Given the description of an element on the screen output the (x, y) to click on. 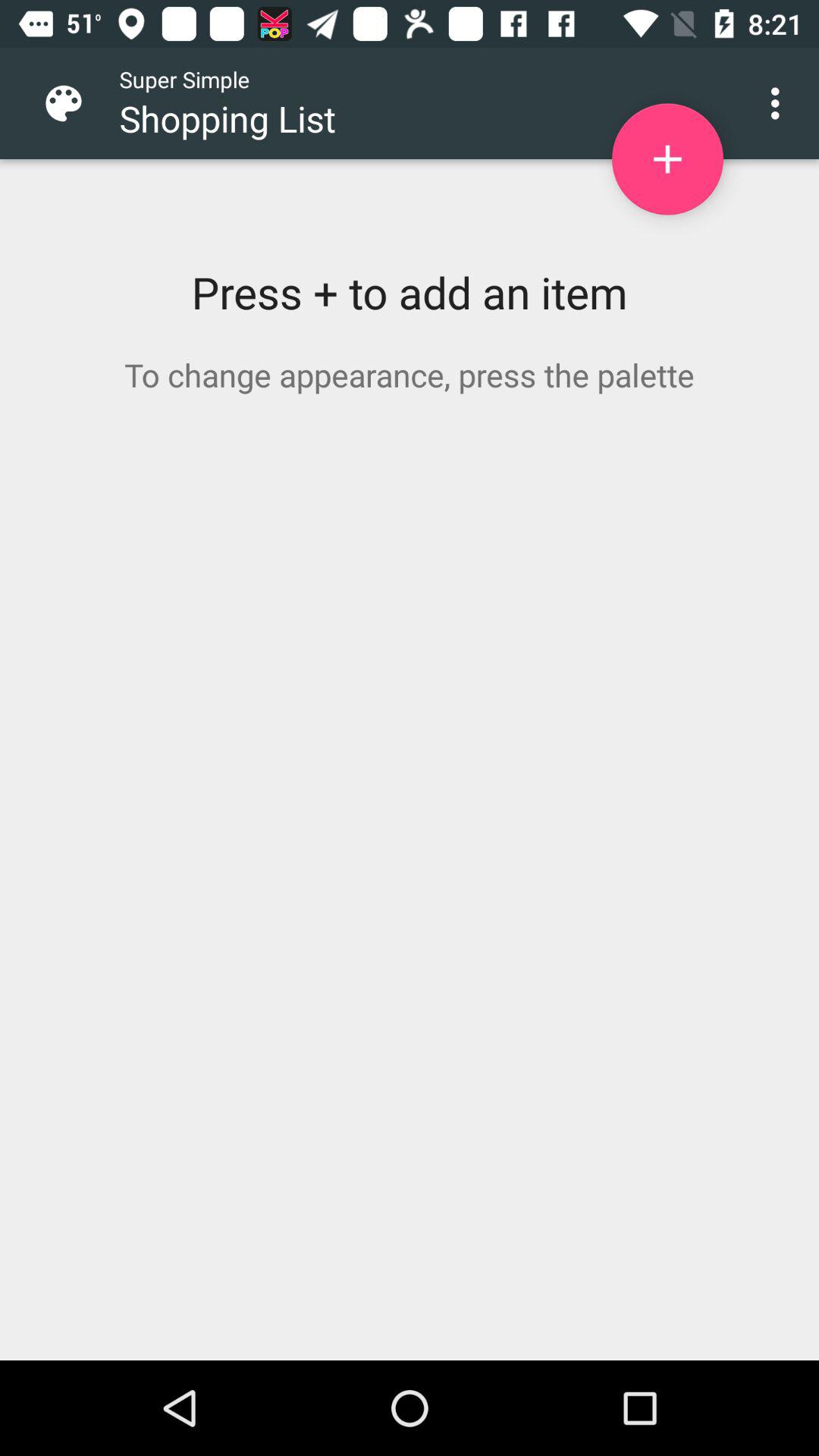
open icon above press to add (779, 103)
